Given the description of an element on the screen output the (x, y) to click on. 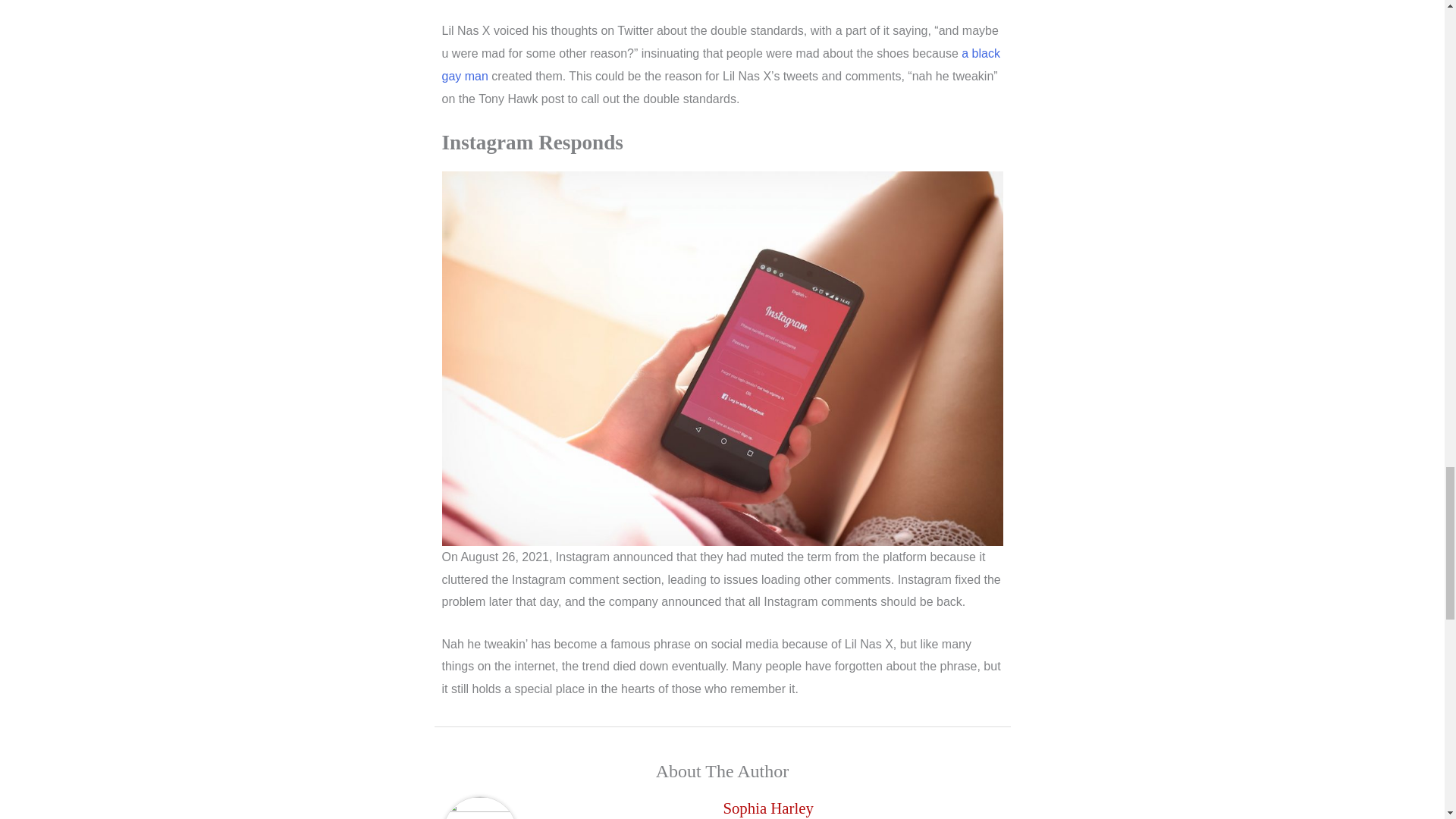
a black gay man (719, 64)
Sophia Harley (768, 807)
